Given the description of an element on the screen output the (x, y) to click on. 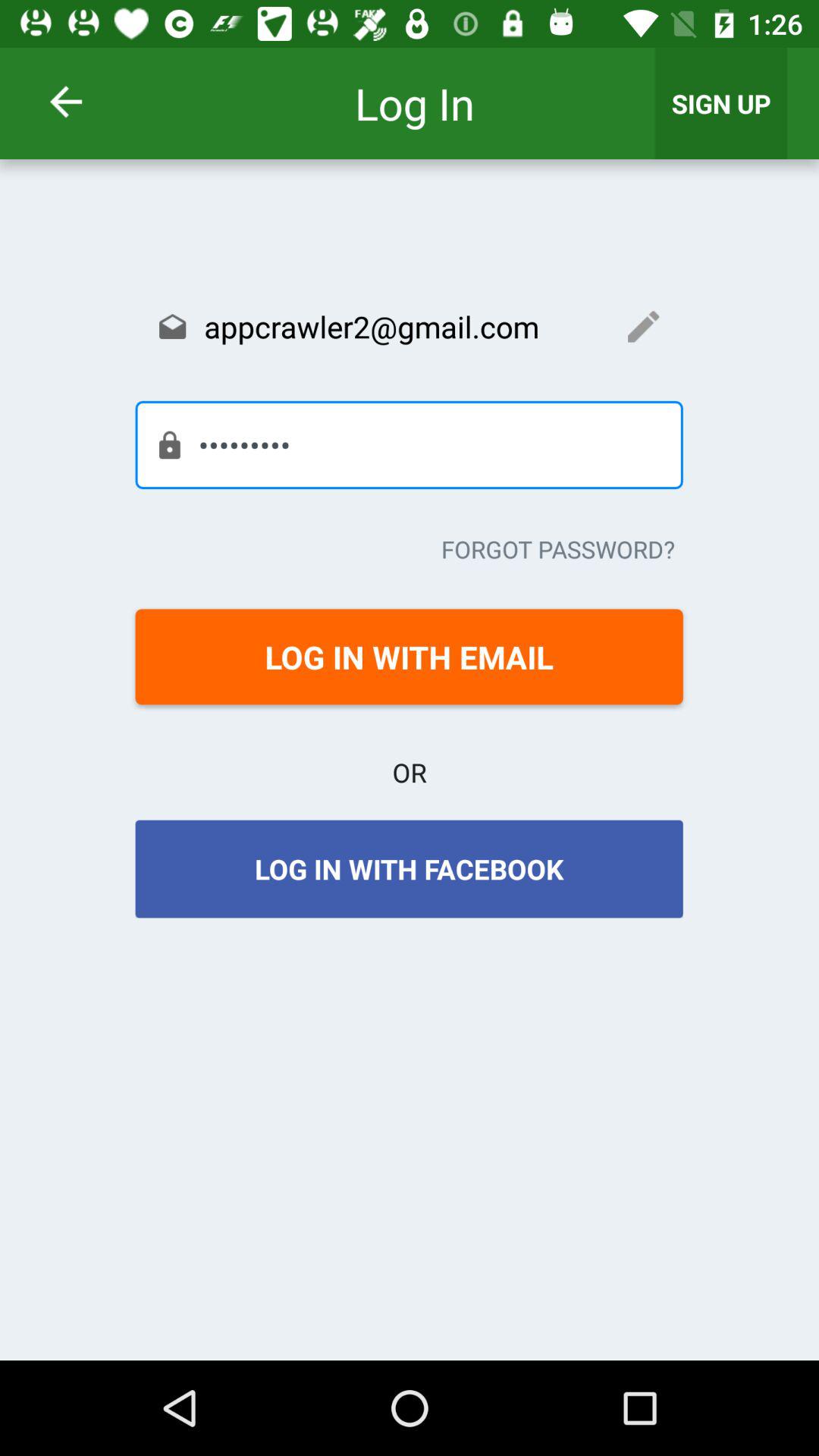
scroll to crowd3116 item (409, 444)
